Given the description of an element on the screen output the (x, y) to click on. 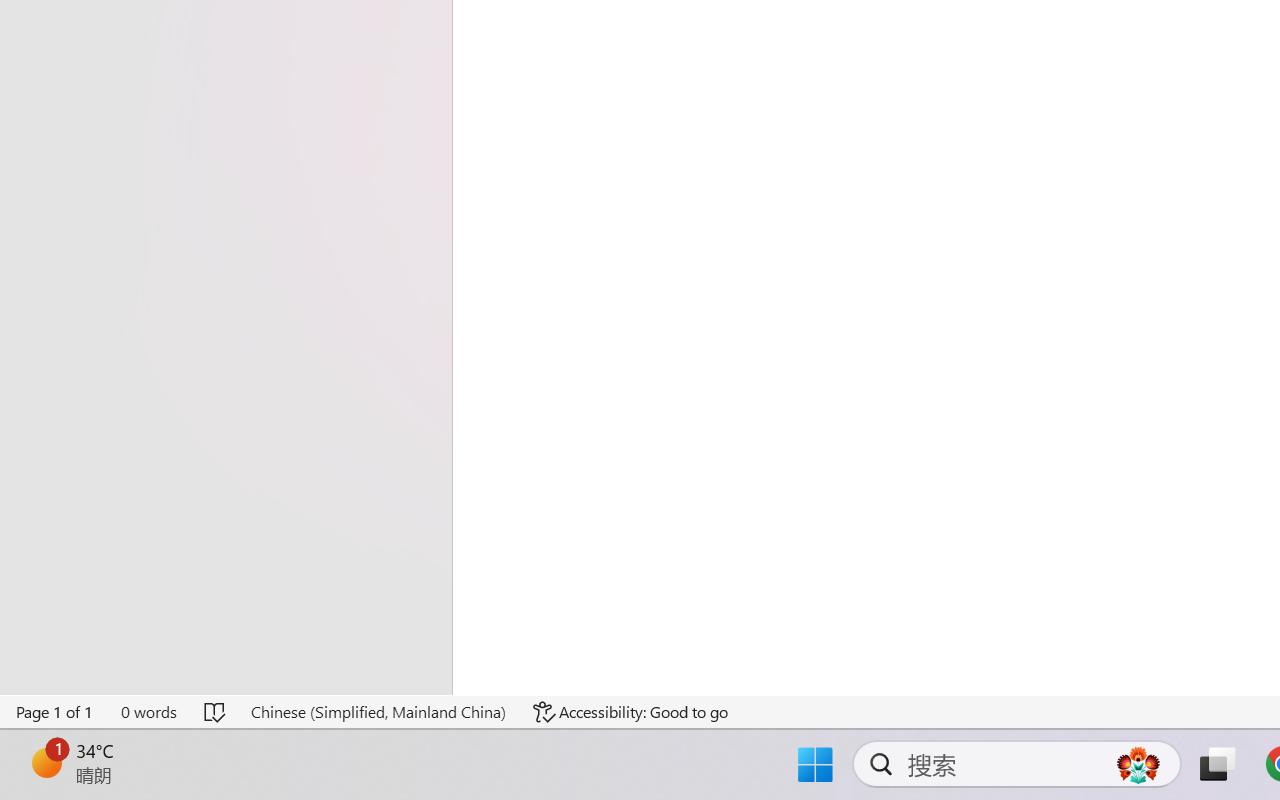
Language Chinese (Simplified, Mainland China) (378, 712)
